Given the description of an element on the screen output the (x, y) to click on. 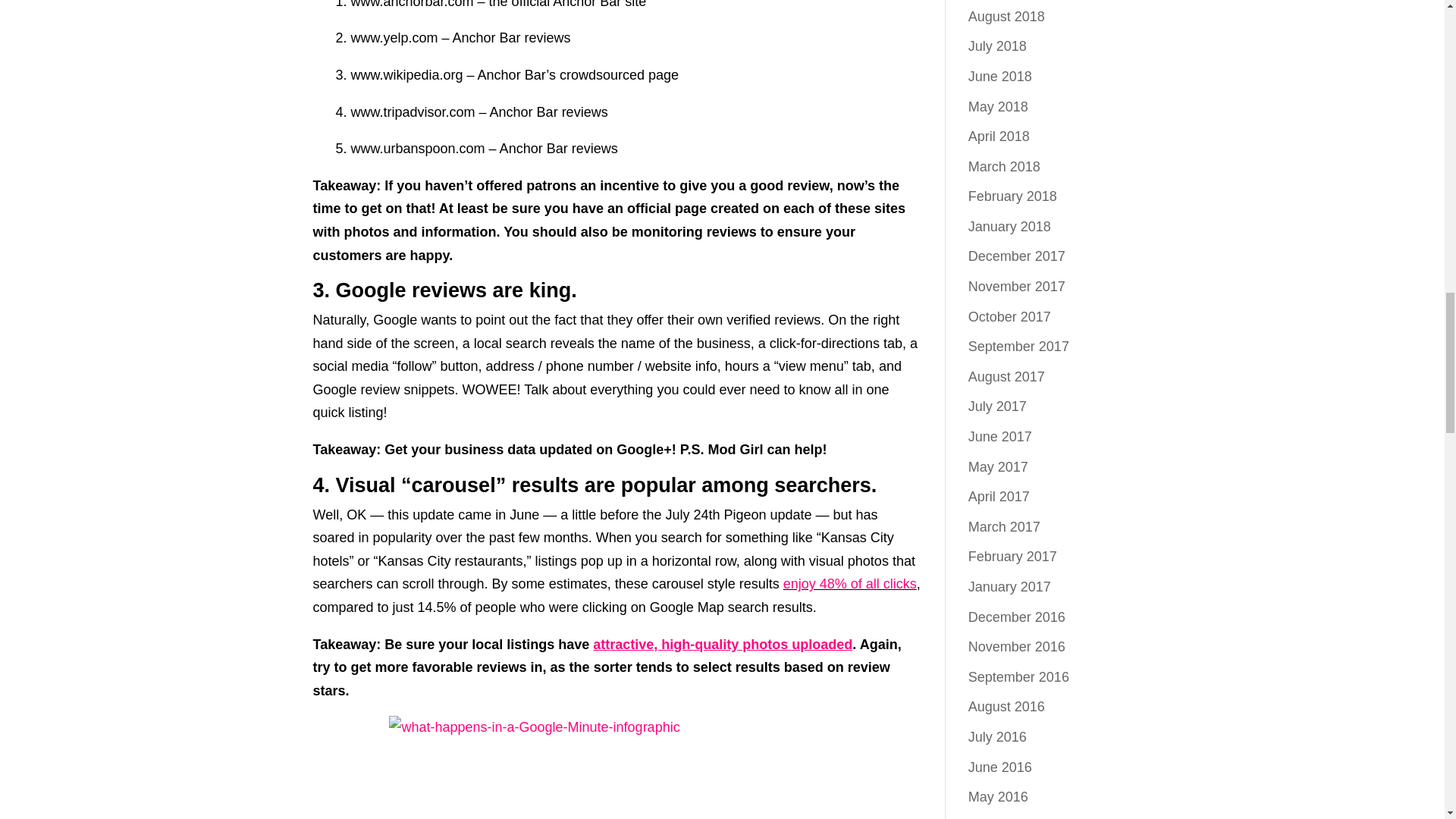
attractive, high-quality photos uploaded (721, 644)
